Given the description of an element on the screen output the (x, y) to click on. 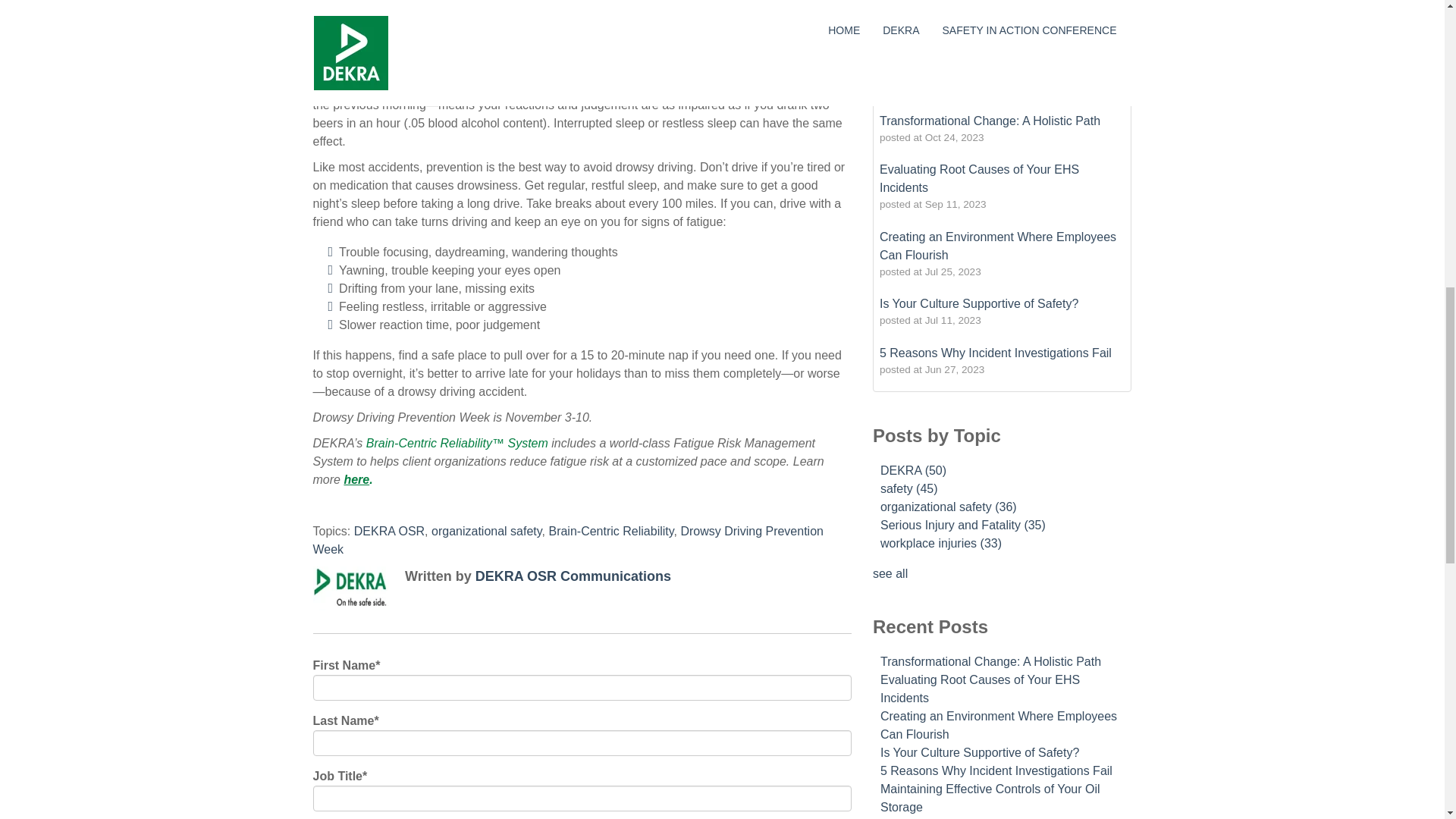
here. (357, 479)
Is Your Culture Supportive of Safety? (978, 303)
Brain-Centric Reliability (610, 530)
DEKRA OSR Communications (573, 575)
organizational safety (485, 530)
5 Reasons Why Incident Investigations Fail (995, 352)
Popular (963, 83)
Creating an Environment Where Employees Can Flourish (997, 245)
Evaluating Root Causes of Your EHS Incidents (978, 178)
DEKRA OSR (389, 530)
Drowsy Driving Prevention Week (567, 540)
Transformational Change: A Holistic Path (989, 120)
Recent (901, 83)
Categories (1034, 83)
